Given the description of an element on the screen output the (x, y) to click on. 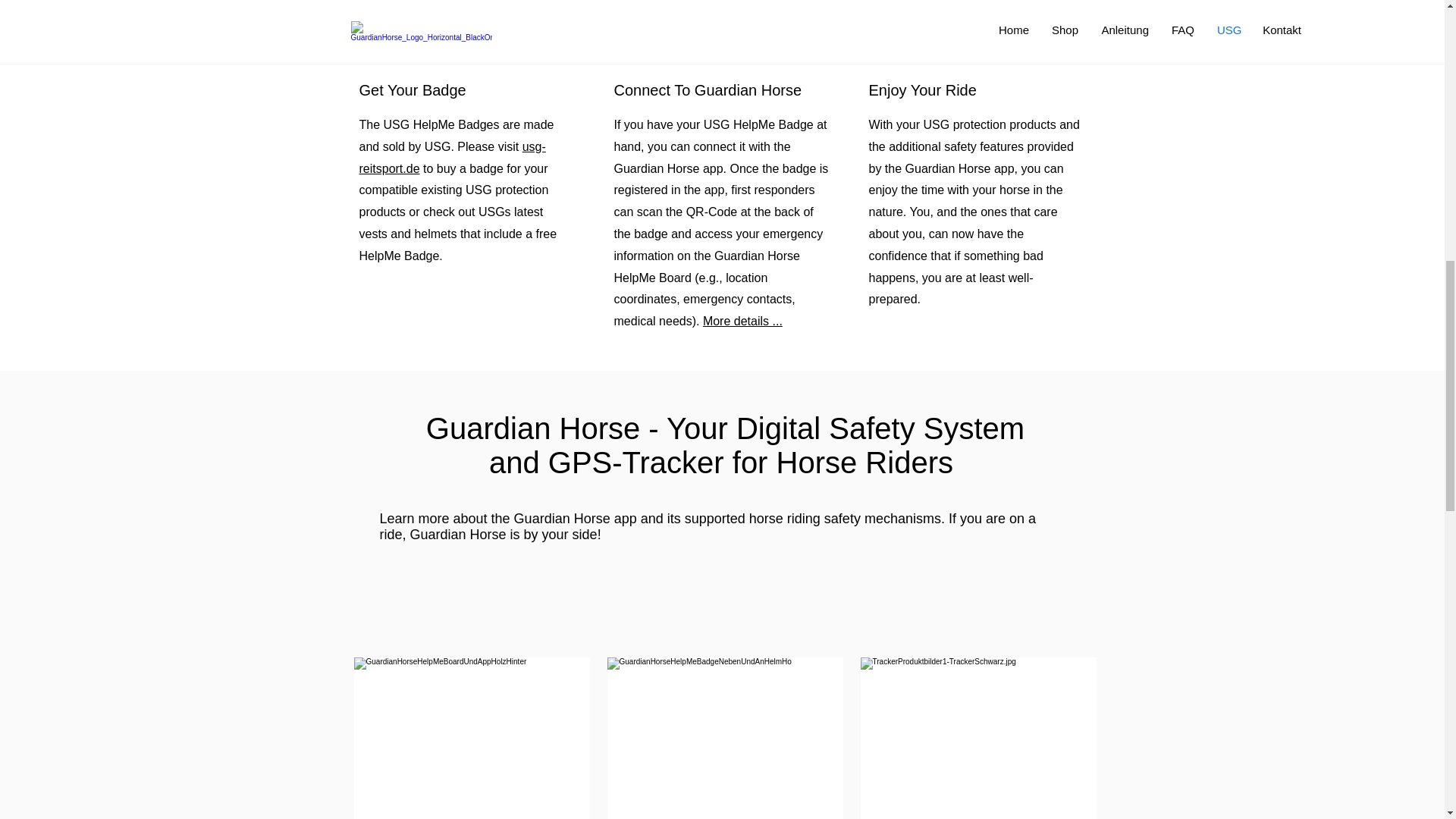
More details ... (743, 320)
usg-reitsport.de (452, 157)
